Given the description of an element on the screen output the (x, y) to click on. 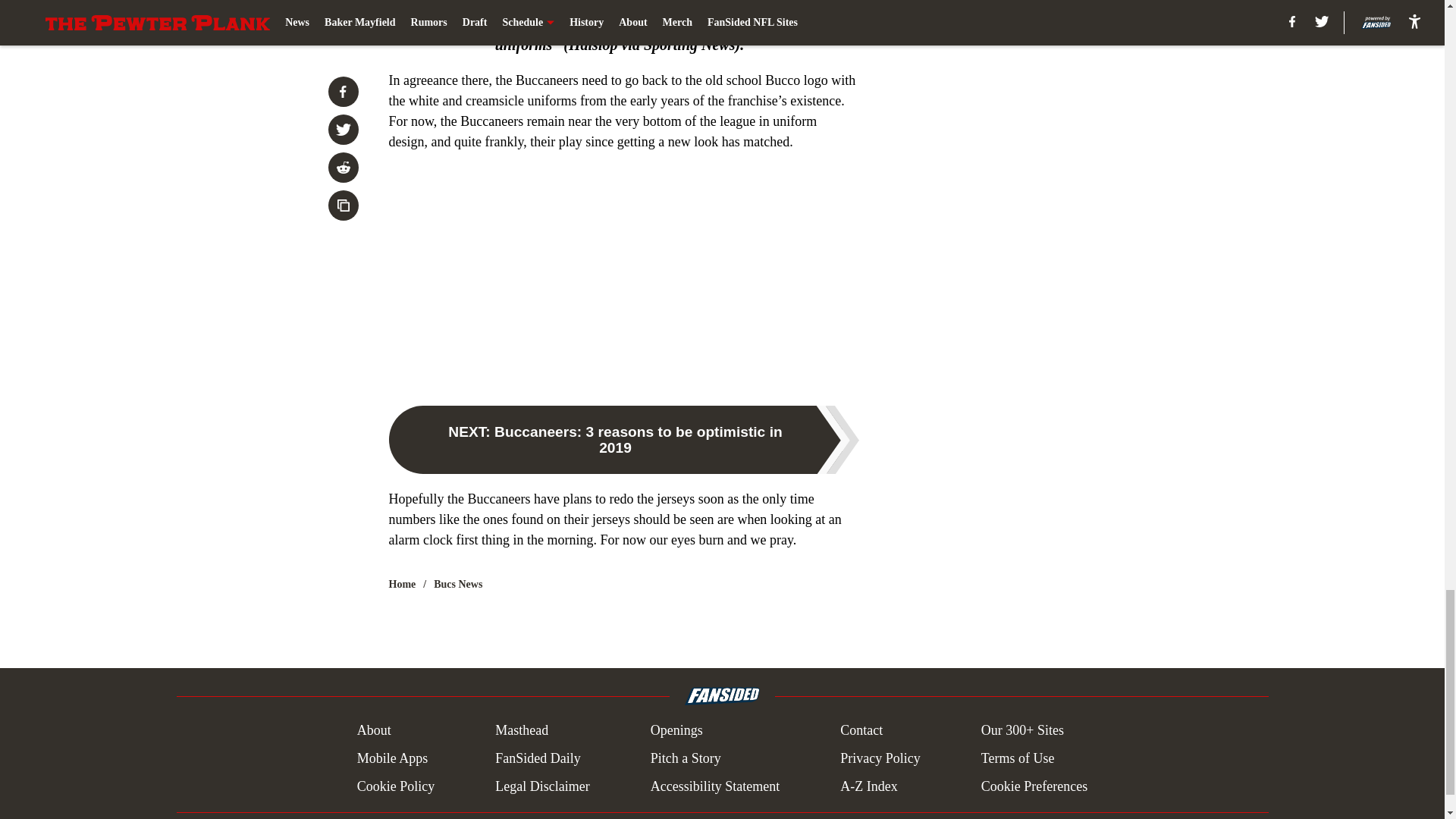
Home (401, 584)
Openings (676, 730)
Bucs News (457, 584)
Mobile Apps (392, 758)
NEXT: Buccaneers: 3 reasons to be optimistic in 2019 (623, 439)
Contact (861, 730)
Masthead (521, 730)
FanSided Daily (537, 758)
About (373, 730)
